Given the description of an element on the screen output the (x, y) to click on. 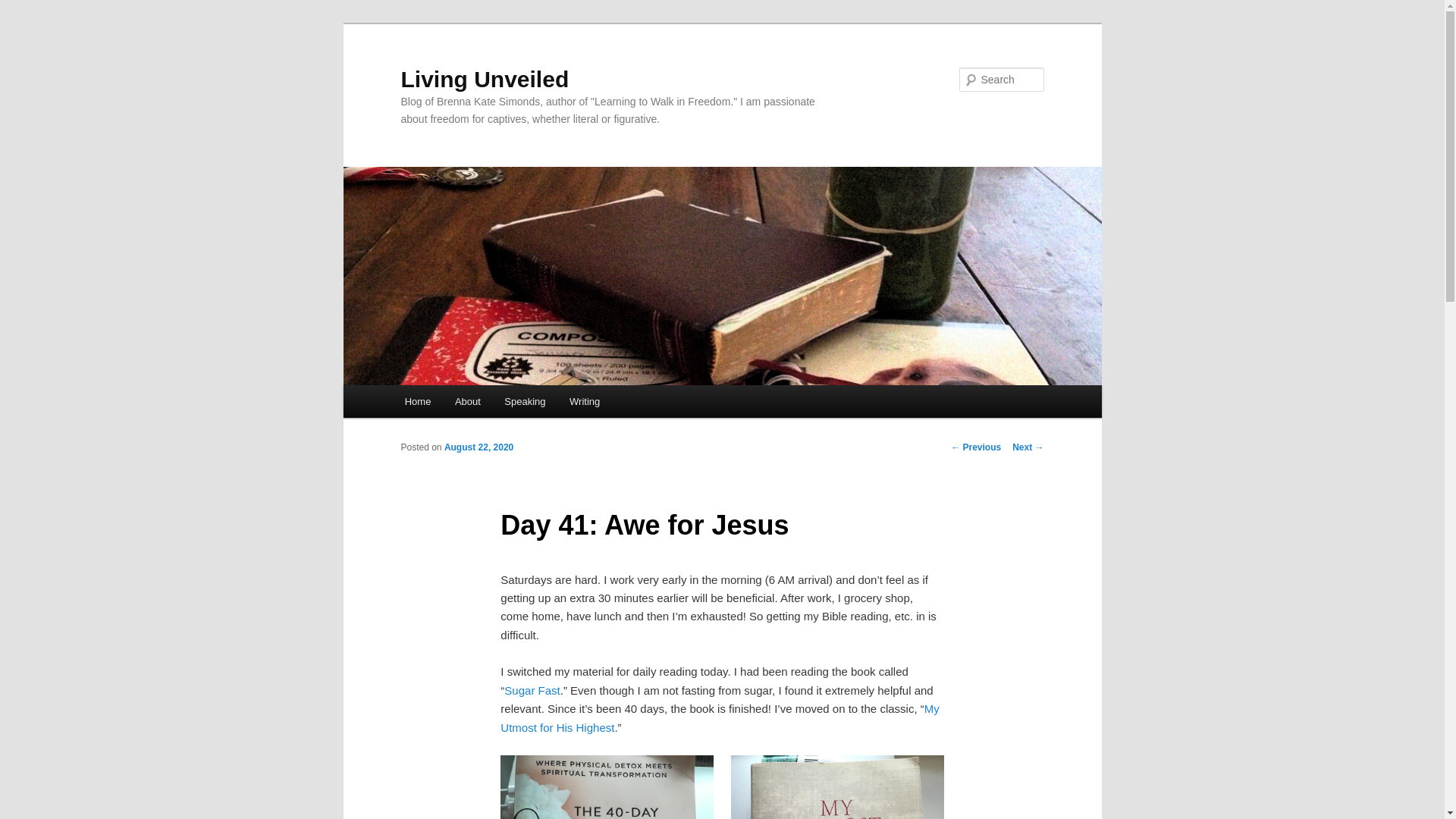
August 22, 2020 (478, 447)
My Utmost for His Highest (719, 717)
Living Unveiled (484, 78)
About (467, 400)
Speaking (525, 400)
Home (417, 400)
8:15 PM (478, 447)
Writing (584, 400)
Search (24, 8)
Sugar Fast (531, 689)
